Given the description of an element on the screen output the (x, y) to click on. 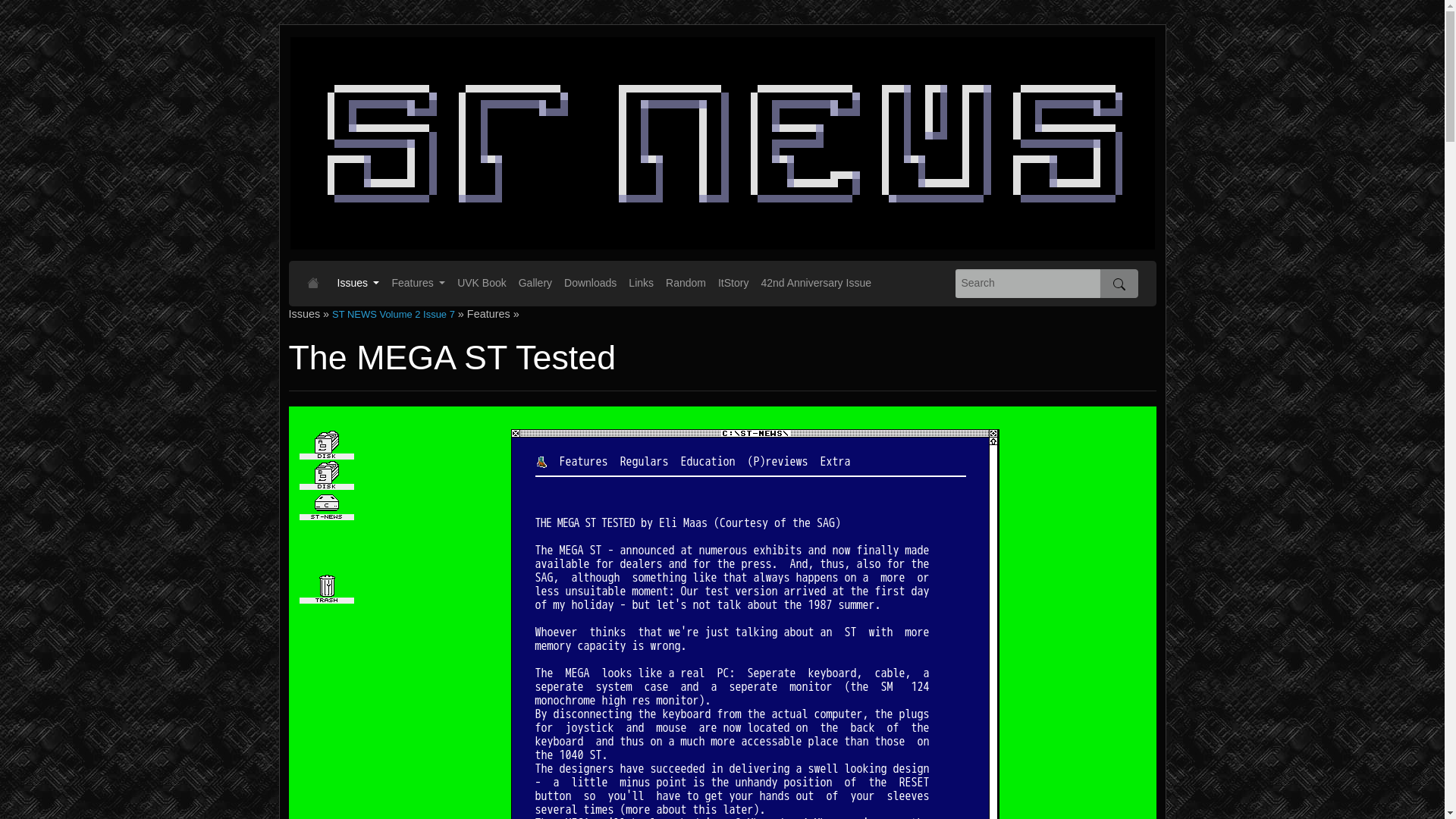
Issues (357, 283)
